Given the description of an element on the screen output the (x, y) to click on. 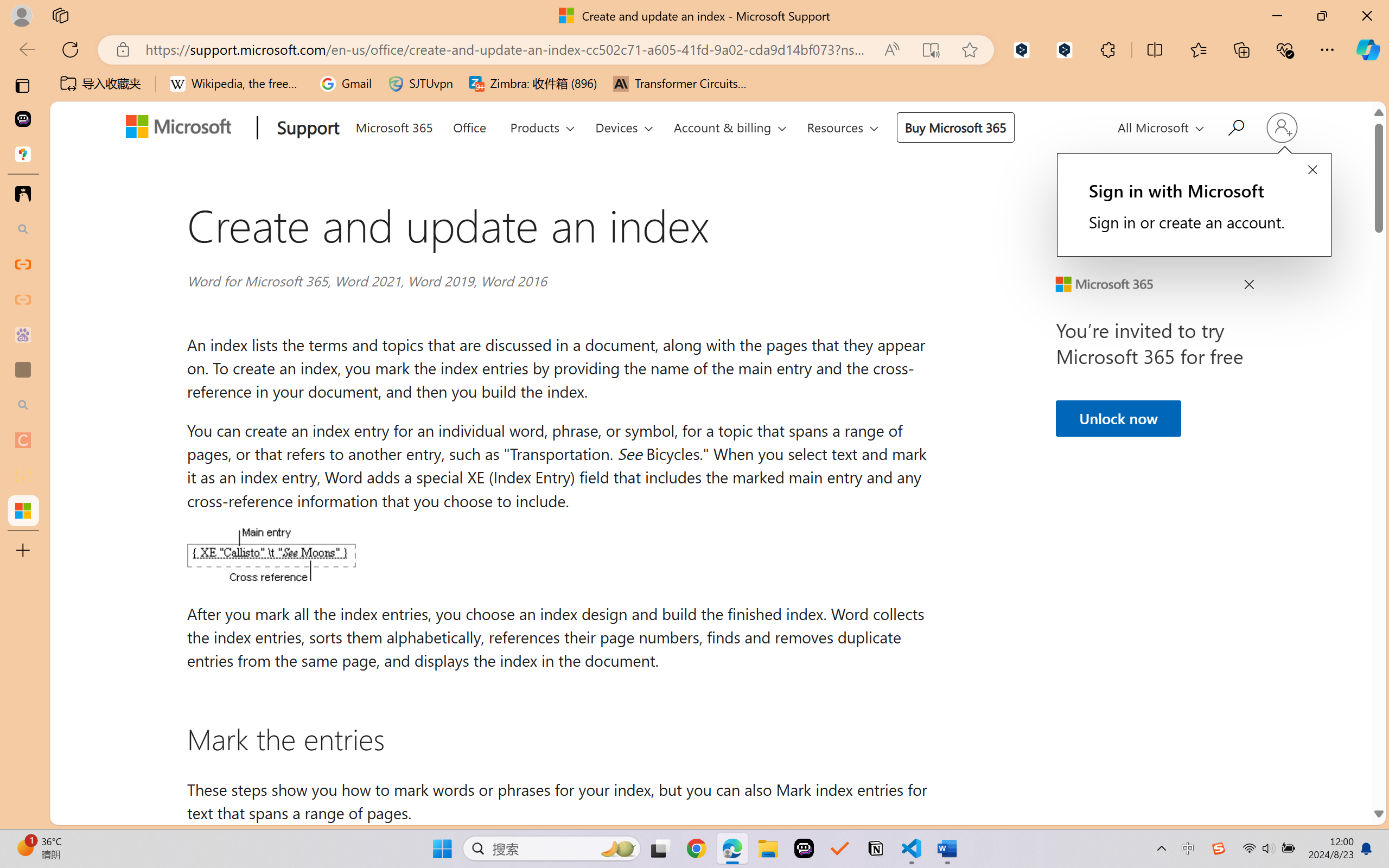
Sign in to your account (1281, 127)
Close callout prompt. (1311, 170)
An XE (Index Entry) field (270, 553)
